Given the description of an element on the screen output the (x, y) to click on. 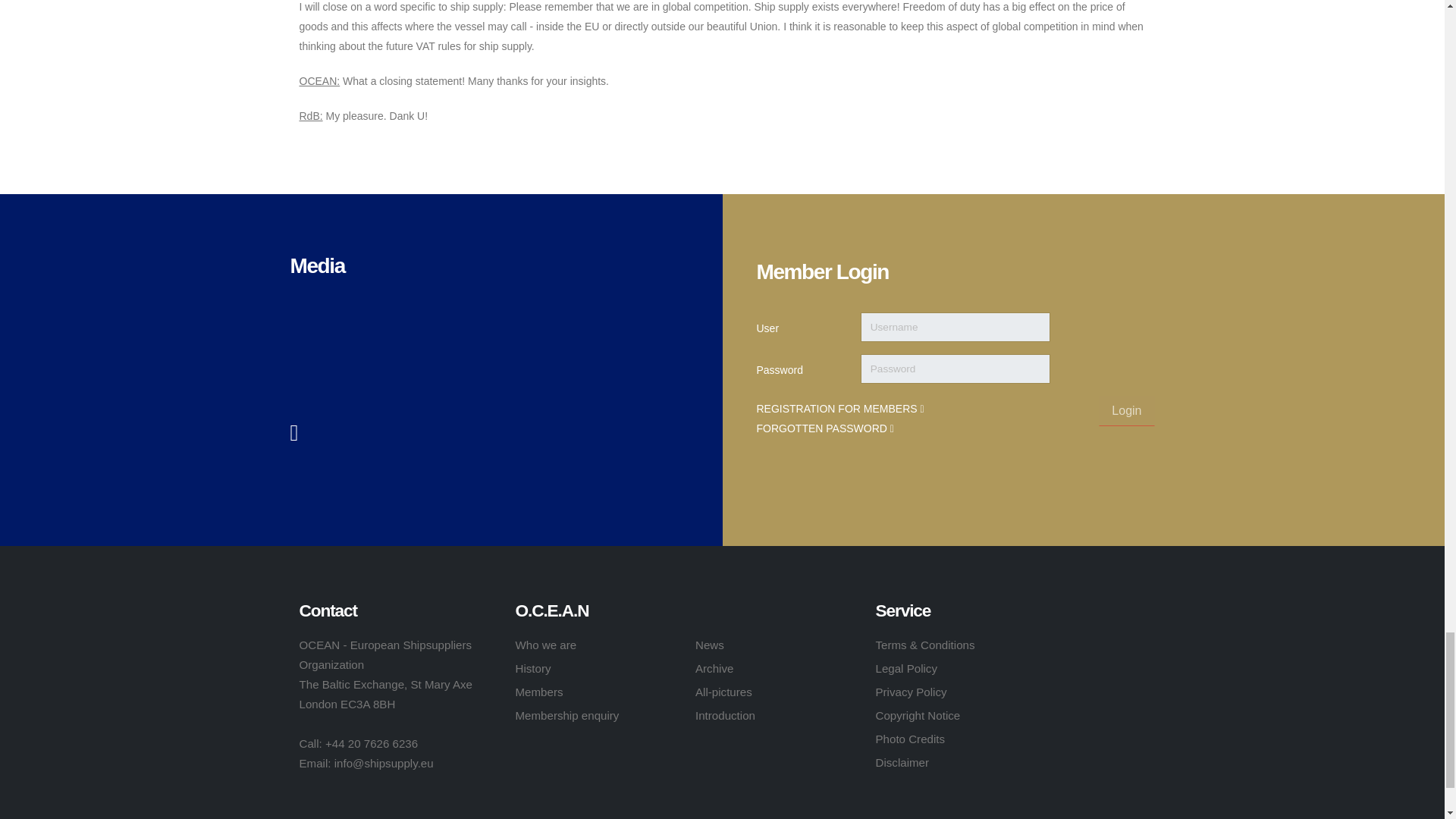
Who we are (545, 644)
Members (539, 691)
Login (1126, 410)
REGISTRATION FOR MEMBERS (839, 408)
FORGOTTEN PASSWORD (824, 428)
History (533, 667)
Membership enquiry (567, 715)
Login (1126, 410)
